Given the description of an element on the screen output the (x, y) to click on. 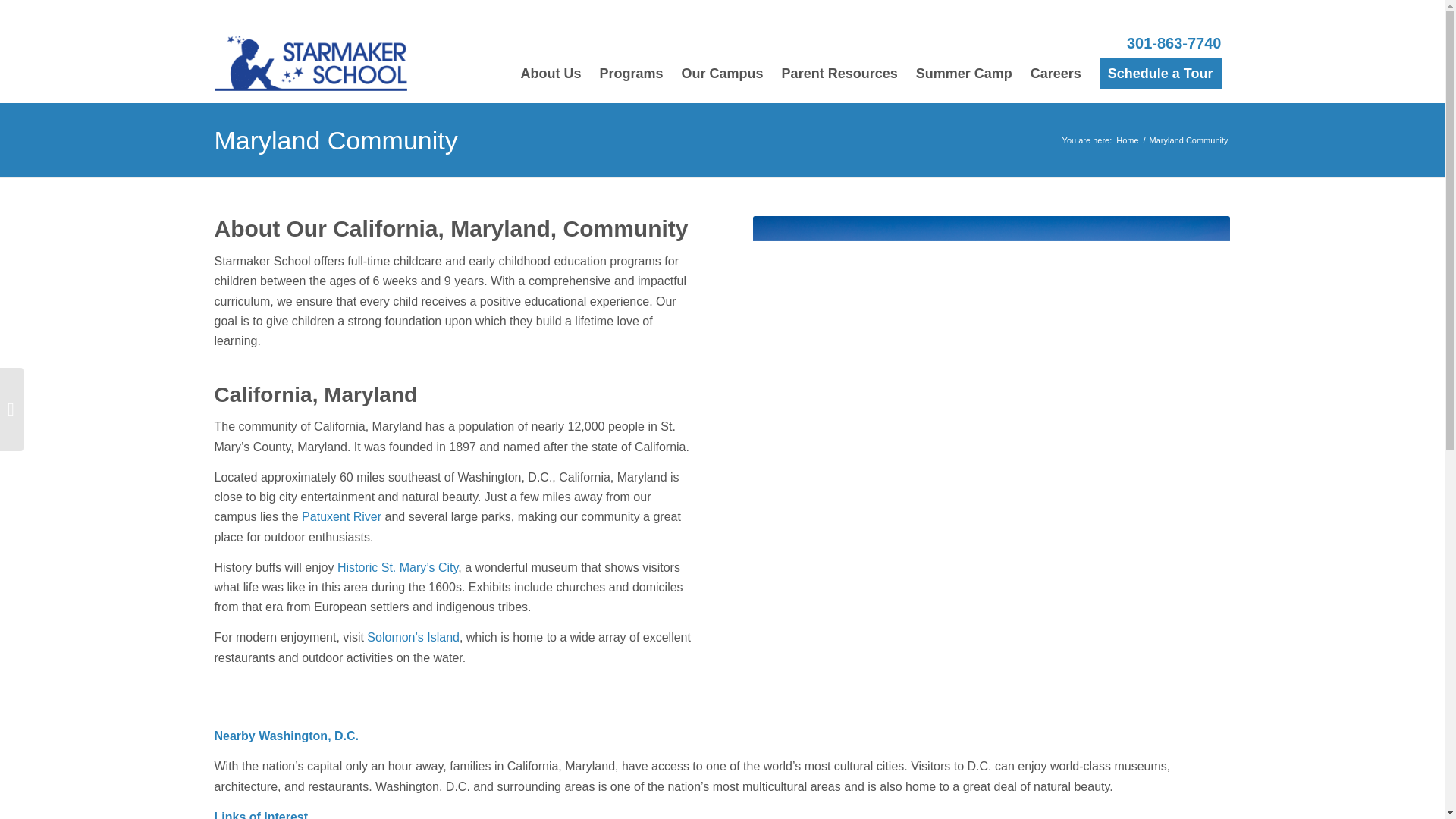
StarMaker (1126, 140)
Parent Resources (840, 62)
Home (1126, 140)
Maryland Community (335, 140)
About Us (551, 62)
Our Campus (722, 62)
Island (441, 636)
301-863-7740 (1173, 43)
Patuxent River (341, 516)
